Given the description of an element on the screen output the (x, y) to click on. 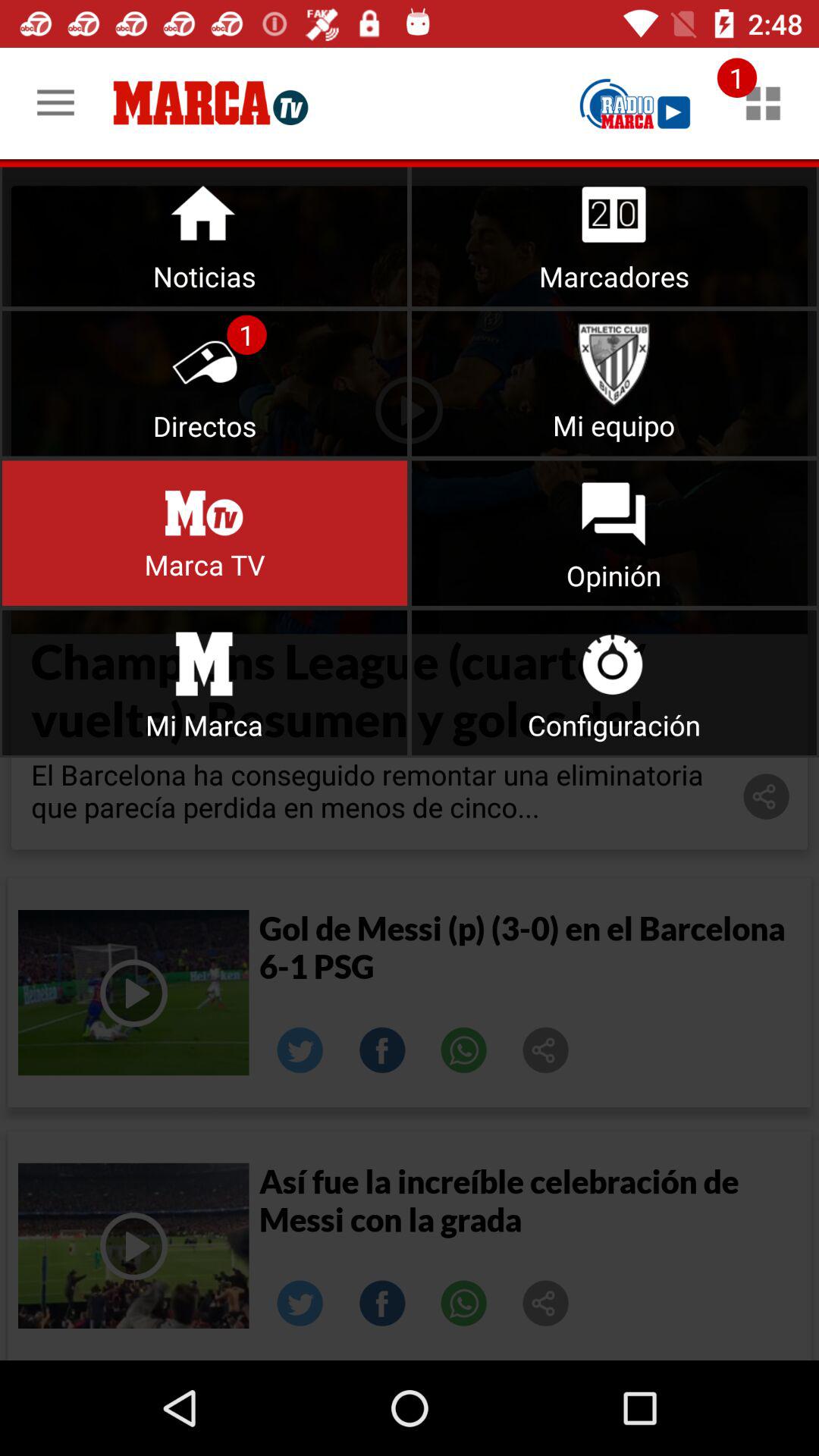
choose opinion option (614, 532)
